Given the description of an element on the screen output the (x, y) to click on. 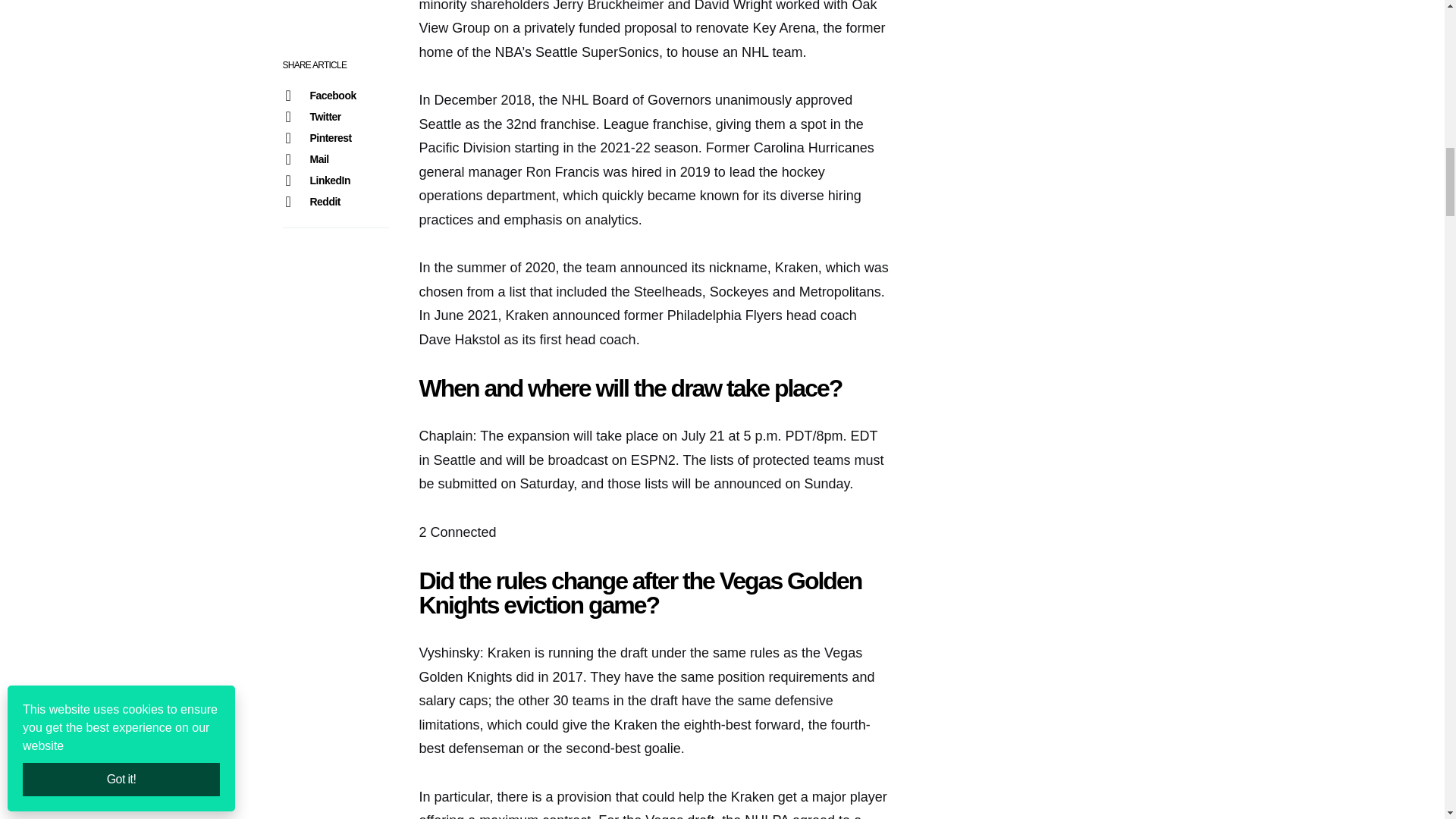
Buying a Headband Wig For Women (1130, 798)
How to Get the Best Bad Credit Loan with Guaranteed Approval (1130, 293)
Download Multi Touch screen test for PC Windows 10,8,7 (1130, 366)
